Given the description of an element on the screen output the (x, y) to click on. 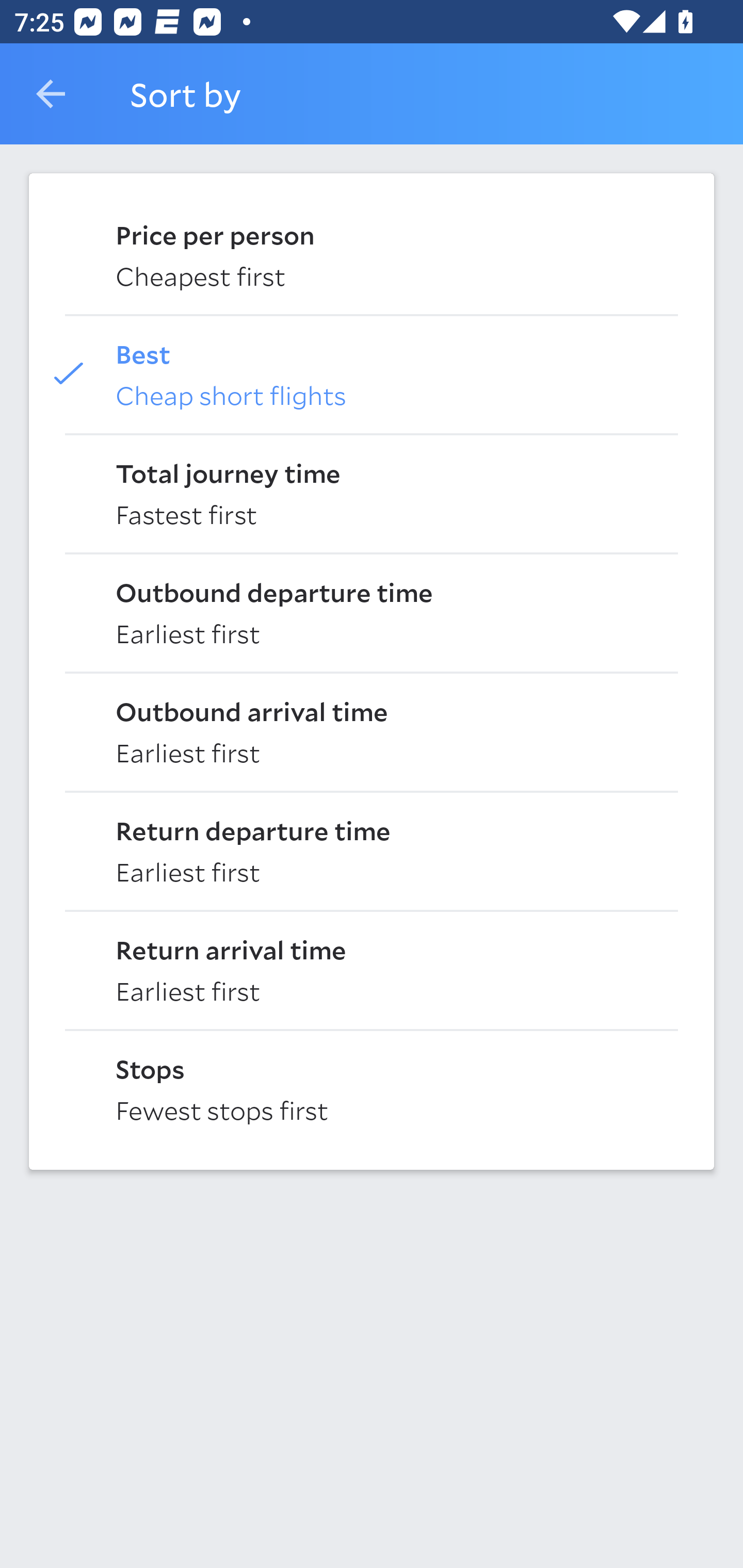
Navigate up (50, 93)
Price per person Cheapest first (371, 253)
Best Cheap short flights (371, 372)
Total journey time Fastest first (371, 491)
Outbound departure time Earliest first (371, 611)
Outbound arrival time Earliest first (371, 730)
Return departure time Earliest first (371, 849)
Return arrival time Earliest first (371, 968)
Stops Fewest stops first (371, 1087)
